Given the description of an element on the screen output the (x, y) to click on. 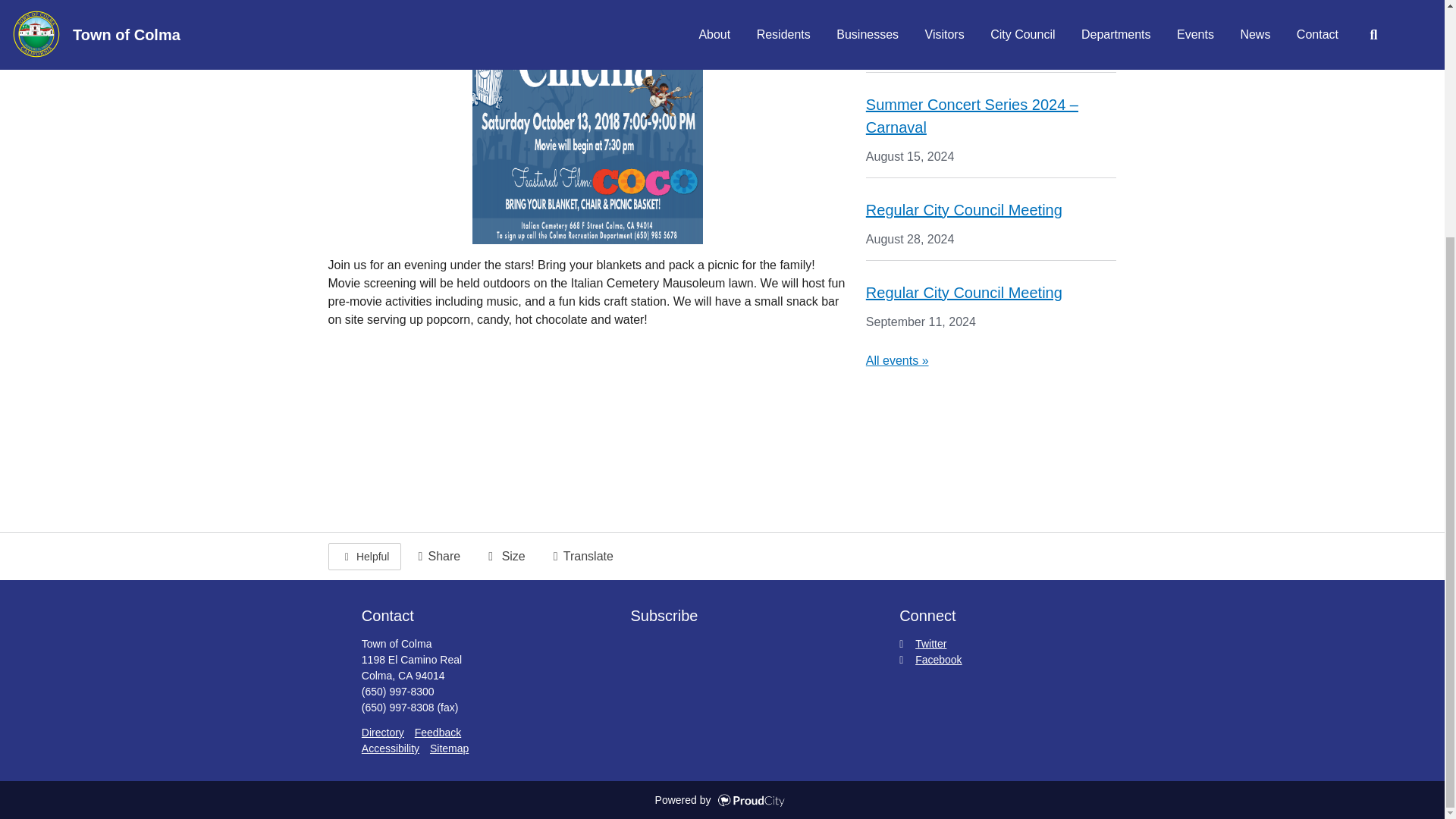
Translate (580, 556)
This page makes me proud (364, 556)
Directory (382, 732)
Size (504, 556)
Helpful (364, 556)
Share (436, 556)
Regular City Council Meeting (964, 209)
Regular City Council Meeting (964, 292)
